Given the description of an element on the screen output the (x, y) to click on. 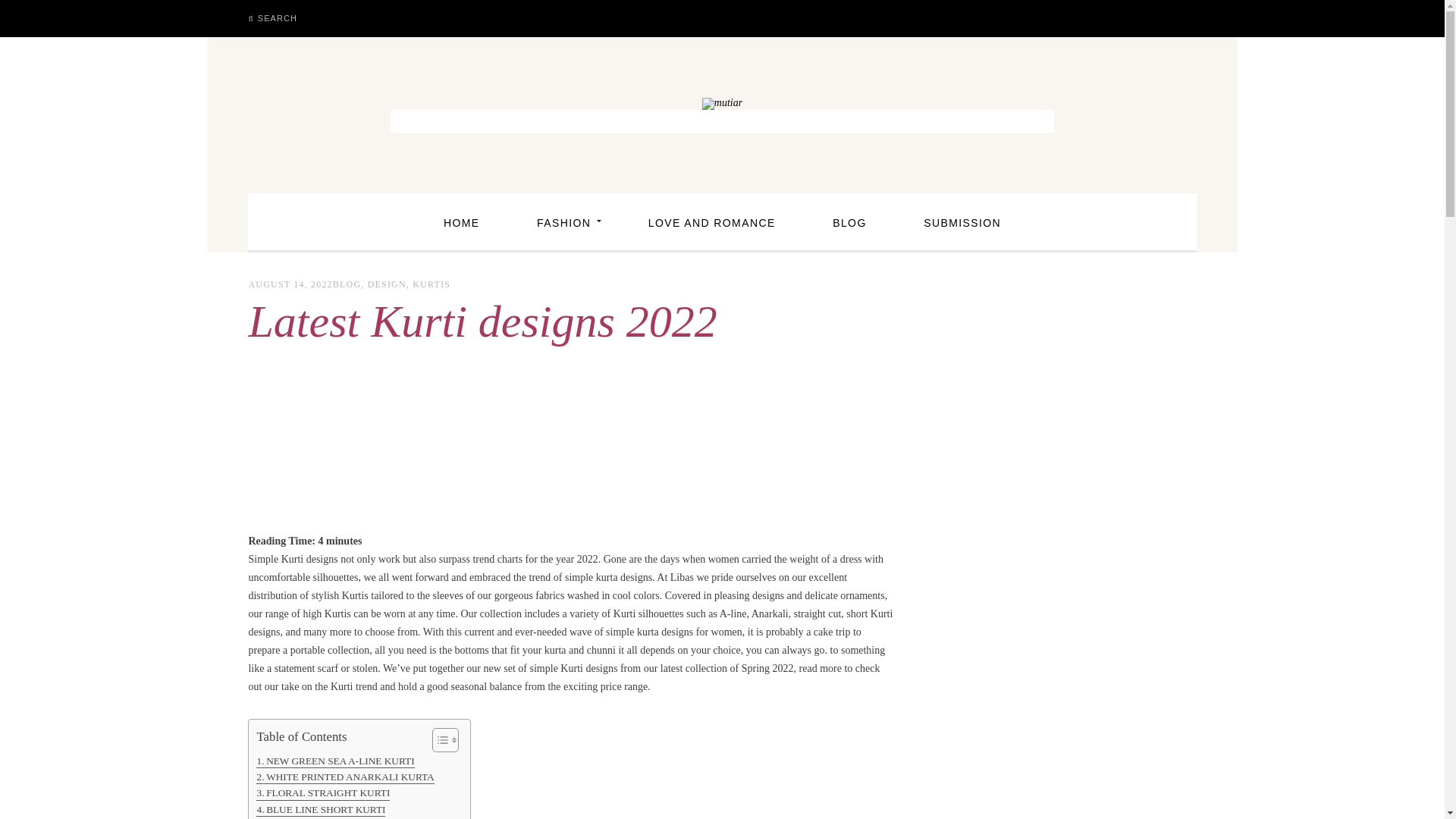
HOME (461, 222)
BLOG (347, 284)
WHITE PRINTED ANARKALI KURTA (344, 776)
NEW GREEN SEA A-LINE KURTI (334, 760)
FLORAL STRAIGHT KURTI (323, 792)
WHITE PRINTED ANARKALI KURTA (344, 776)
KURTIS (430, 284)
FLORAL STRAIGHT KURTI (323, 792)
LOVE AND ROMANCE (712, 222)
BLUE LINE SHORT KURTI (320, 809)
NEW GREEN SEA A-LINE KURTI (334, 760)
BLUE LINE SHORT KURTI (320, 809)
AUGUST 14, 2022 (289, 284)
DESIGN (387, 284)
